Given the description of an element on the screen output the (x, y) to click on. 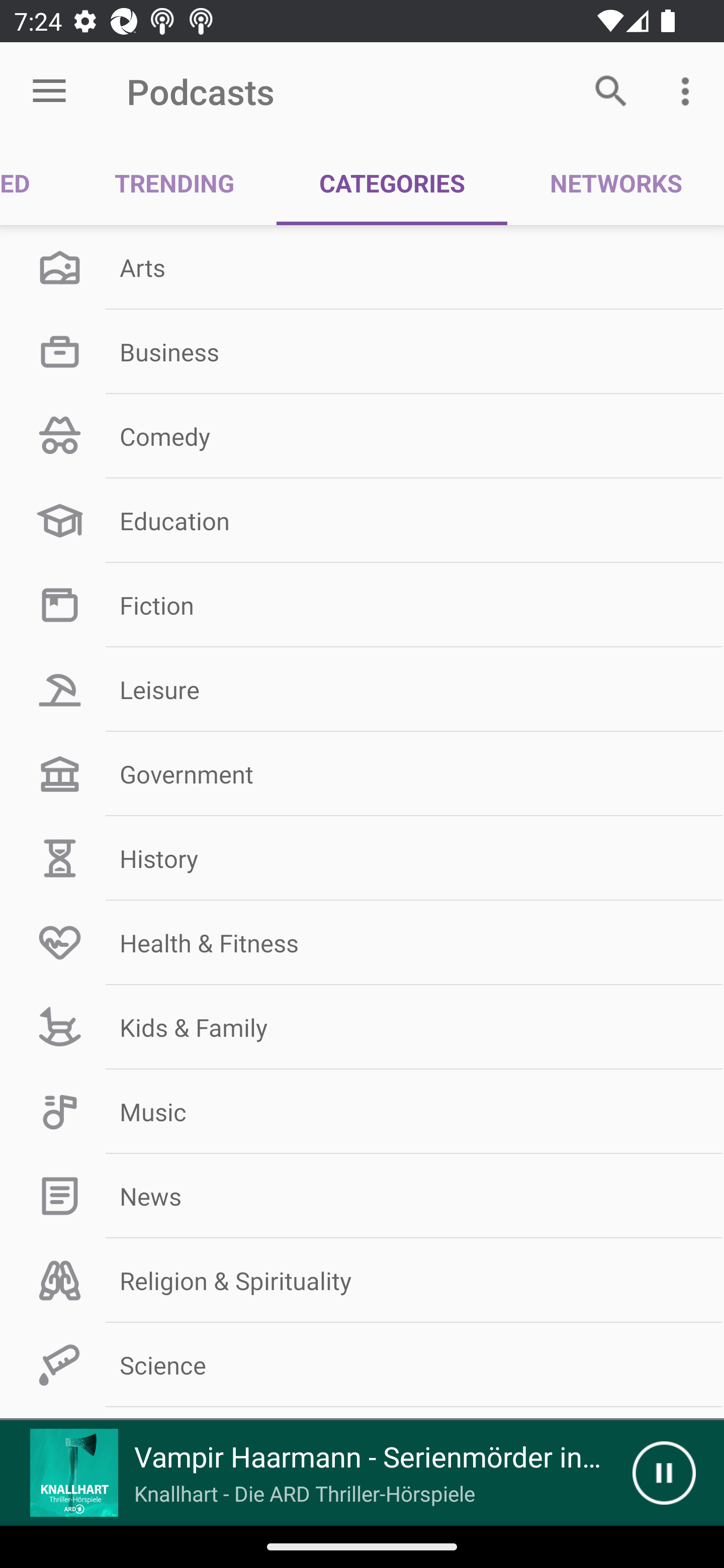
Open menu (49, 91)
Search (611, 90)
More options (688, 90)
TRENDING (174, 183)
CATEGORIES (391, 183)
NETWORKS (615, 183)
Arts (362, 266)
Business (362, 350)
Comedy (362, 435)
Education (362, 520)
Fiction (362, 604)
Leisure (362, 689)
Government (362, 774)
History (362, 858)
Health & Fitness (362, 942)
Kids & Family (362, 1026)
Music (362, 1111)
News (362, 1196)
Religion & Spirituality (362, 1280)
Science (362, 1364)
Pause (663, 1472)
